Given the description of an element on the screen output the (x, y) to click on. 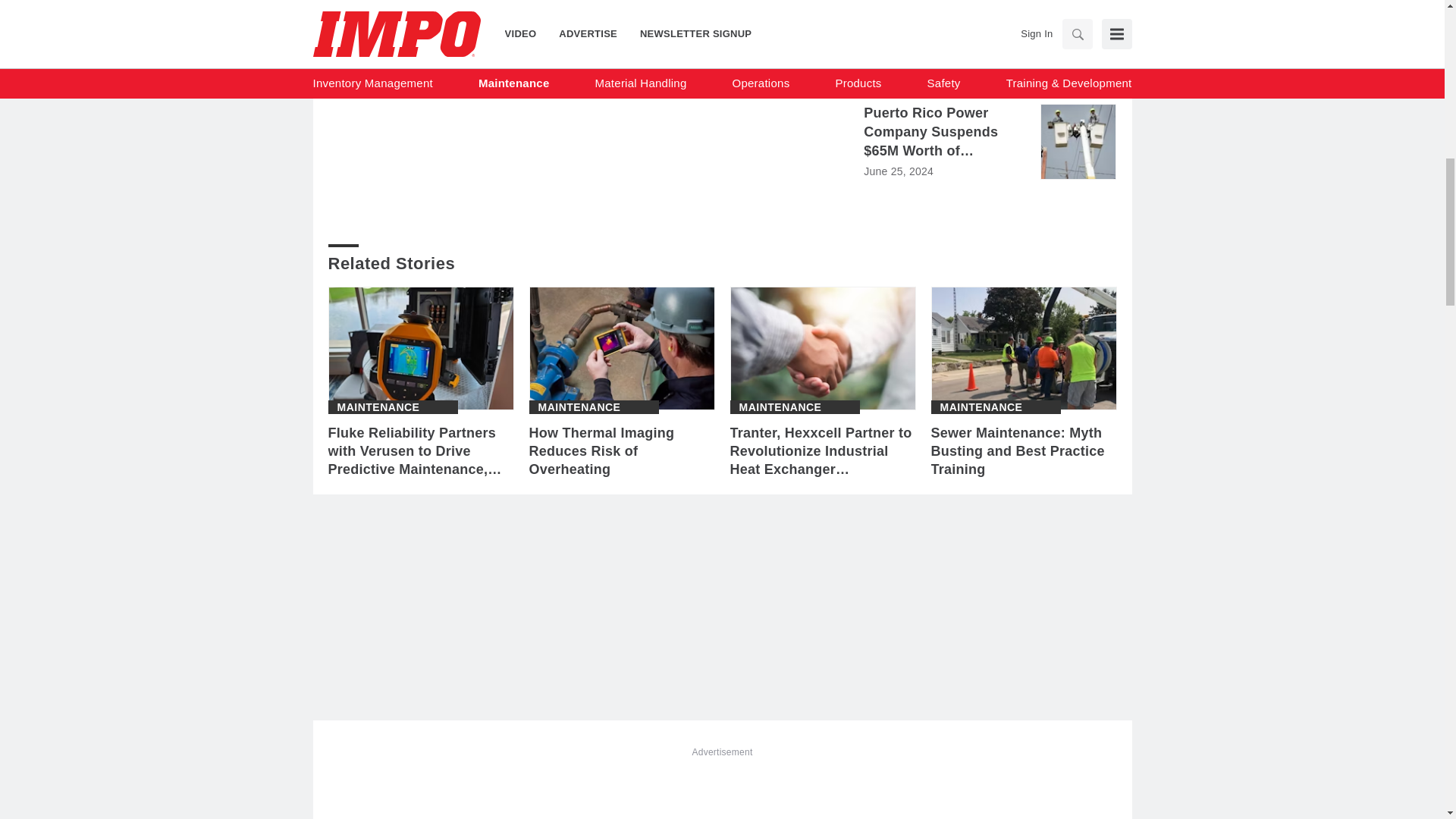
Share To facebook (381, 61)
Share To pinterest (499, 61)
Maintenance (579, 407)
Share To print (342, 61)
Maintenance (377, 407)
Maintenance (779, 407)
Maintenance (981, 407)
Share To linkedin (421, 61)
Share To twitter (460, 61)
